Given the description of an element on the screen output the (x, y) to click on. 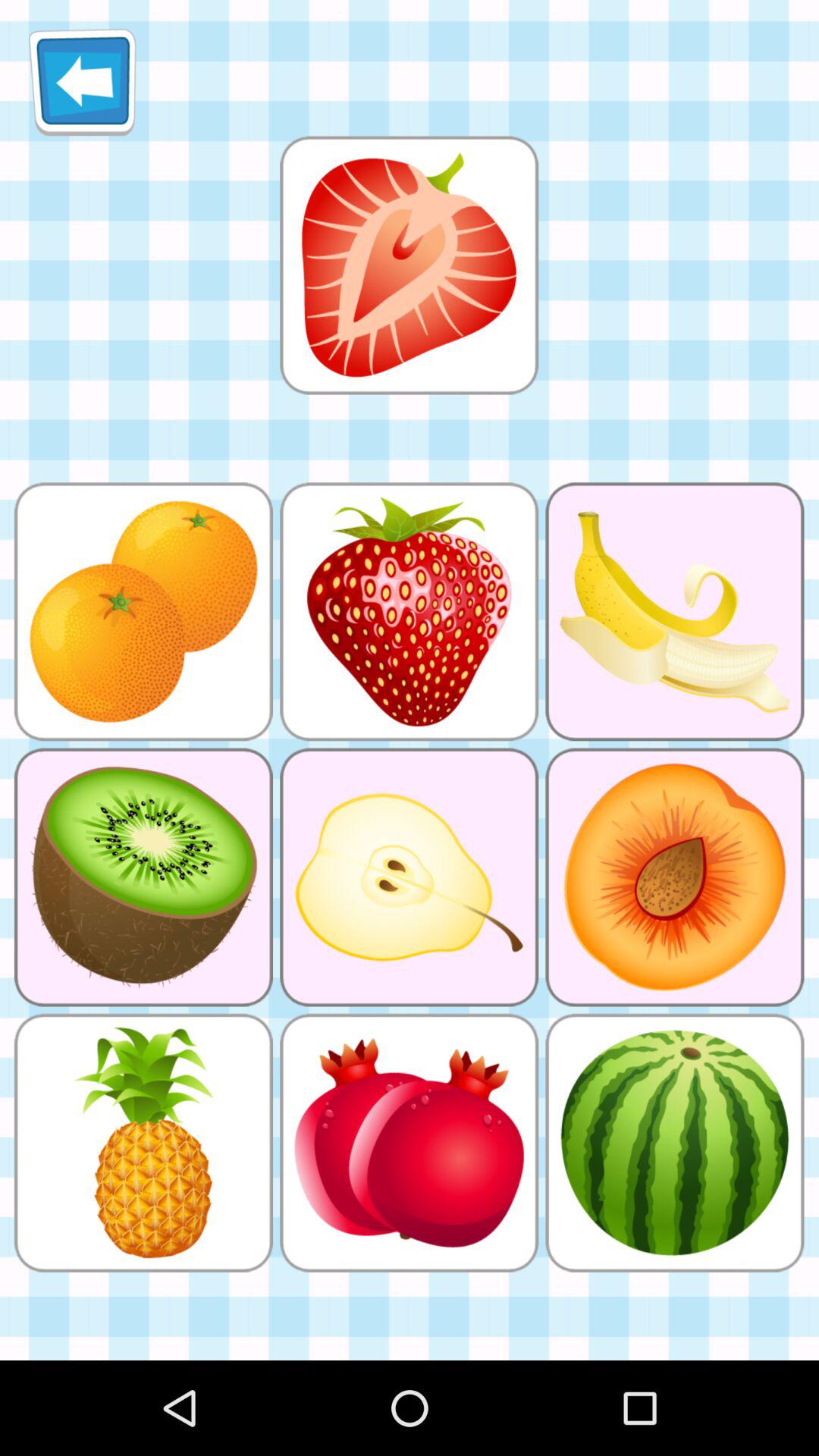
images (409, 265)
